Given the description of an element on the screen output the (x, y) to click on. 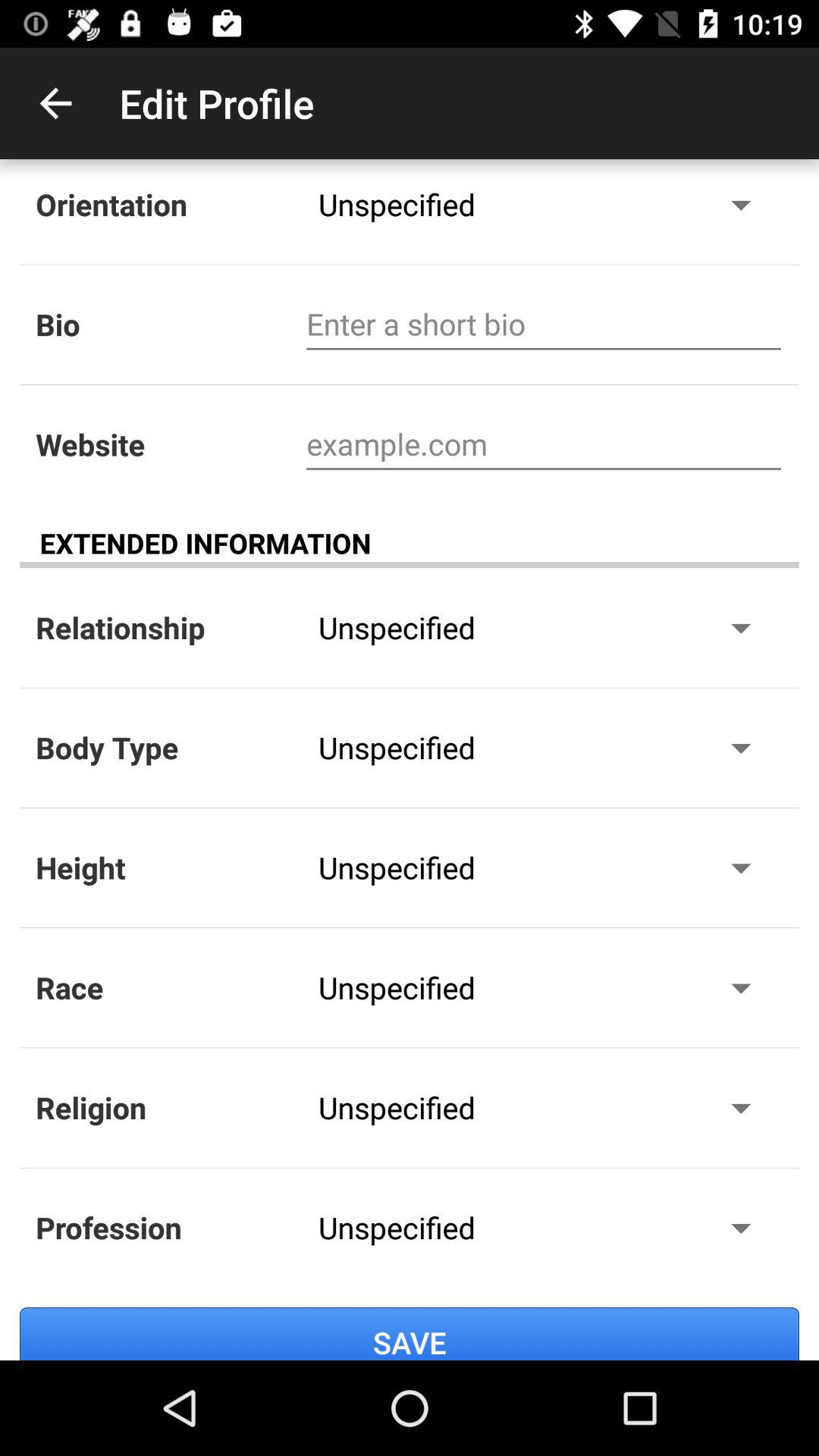
type a bio (543, 324)
